Given the description of an element on the screen output the (x, y) to click on. 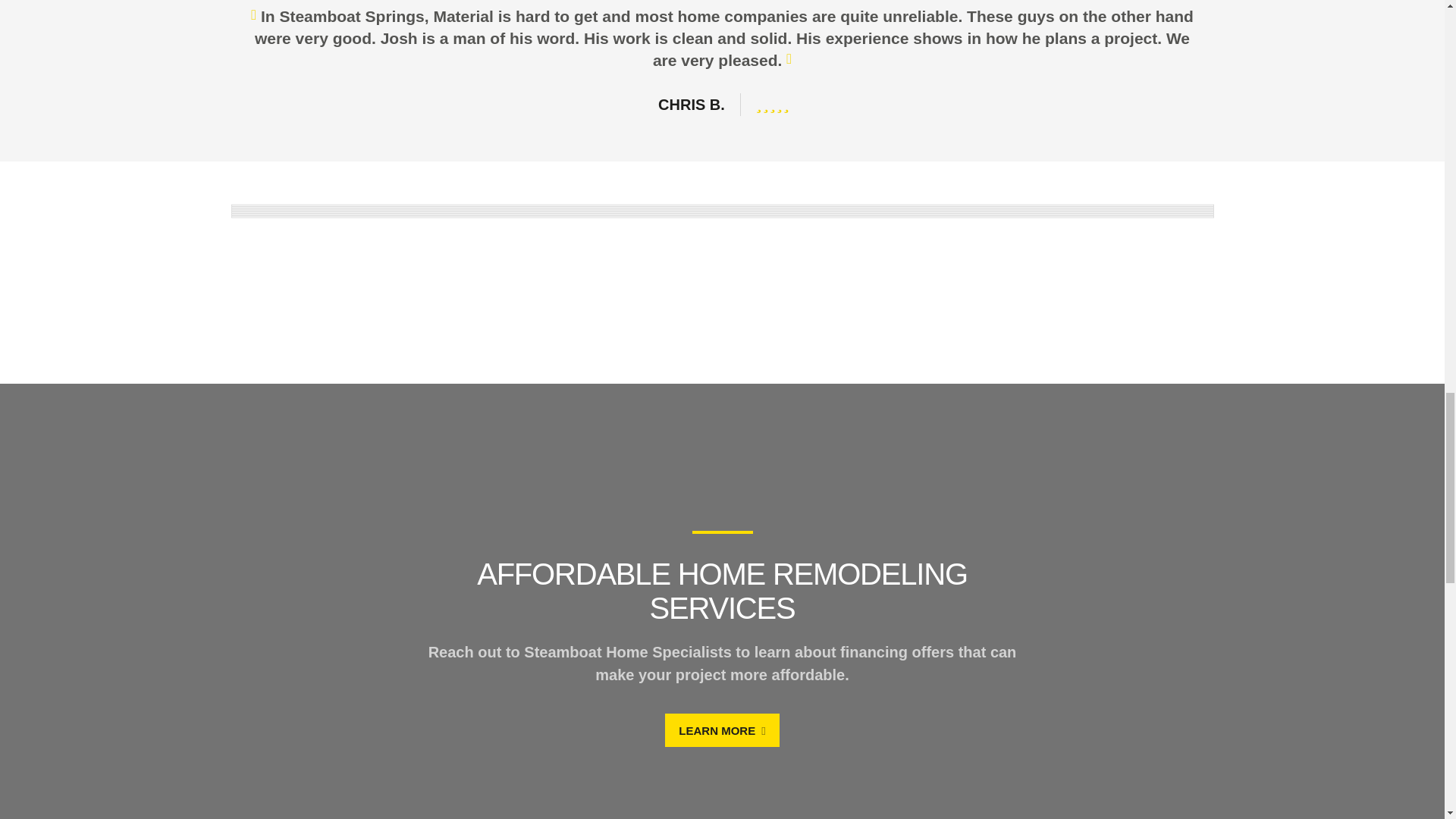
LEARN MORE (722, 729)
